Given the description of an element on the screen output the (x, y) to click on. 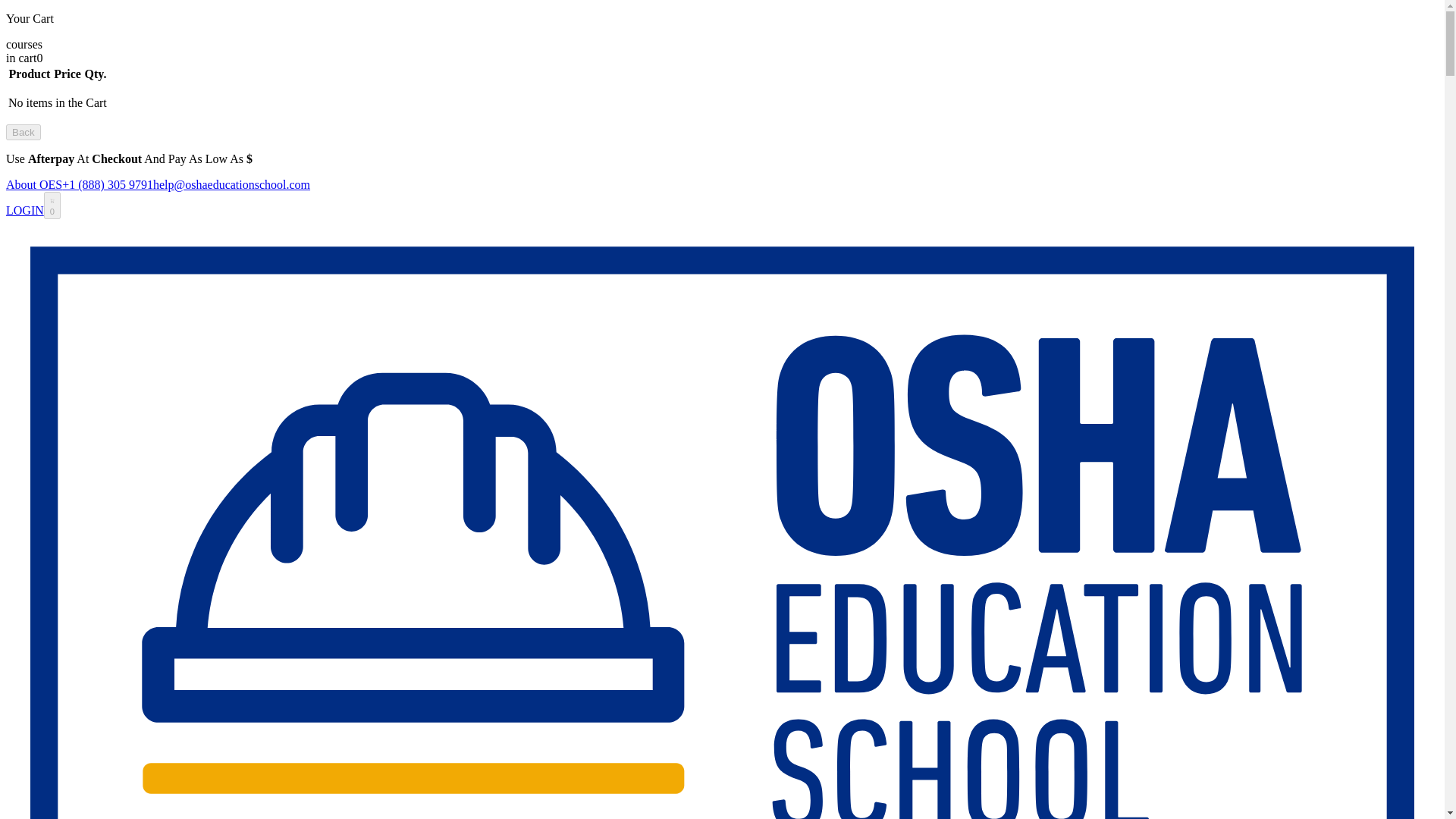
LOGIN (24, 210)
Back (22, 132)
0 (52, 205)
About OES (33, 184)
